Given the description of an element on the screen output the (x, y) to click on. 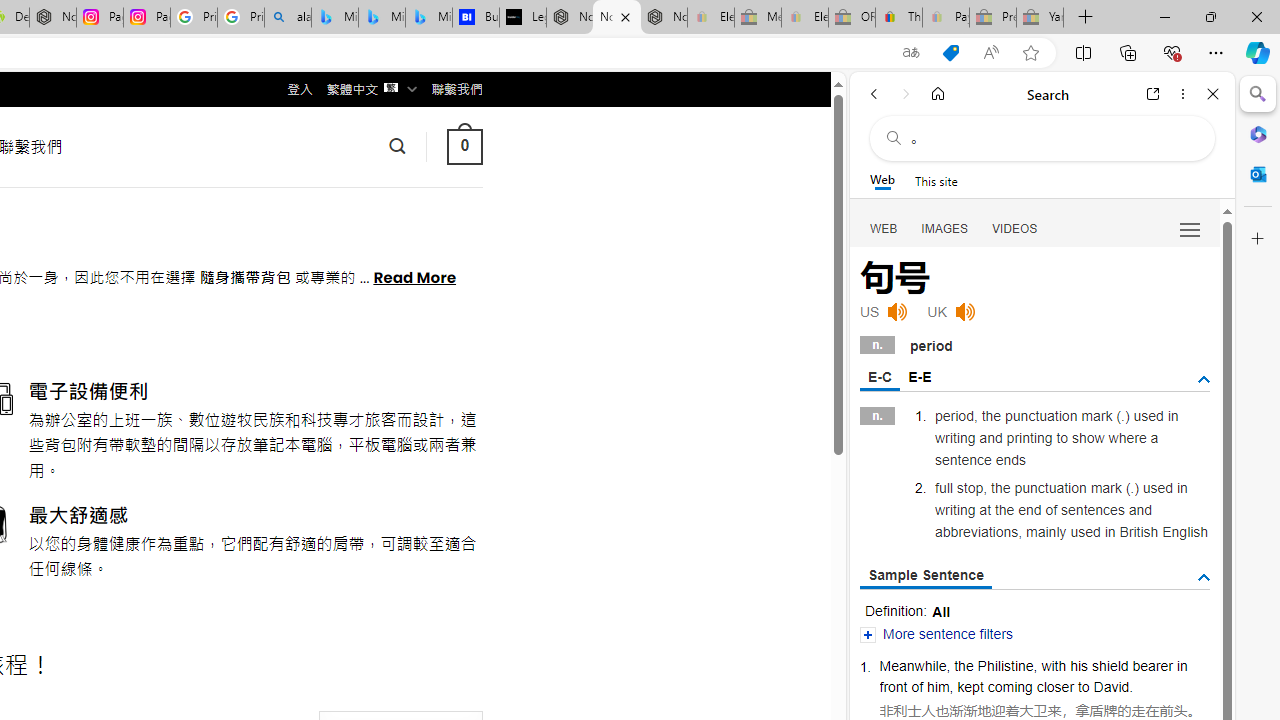
Click to listen (964, 312)
alabama high school quarterback dies - Search (288, 17)
David (1111, 686)
